Given the description of an element on the screen output the (x, y) to click on. 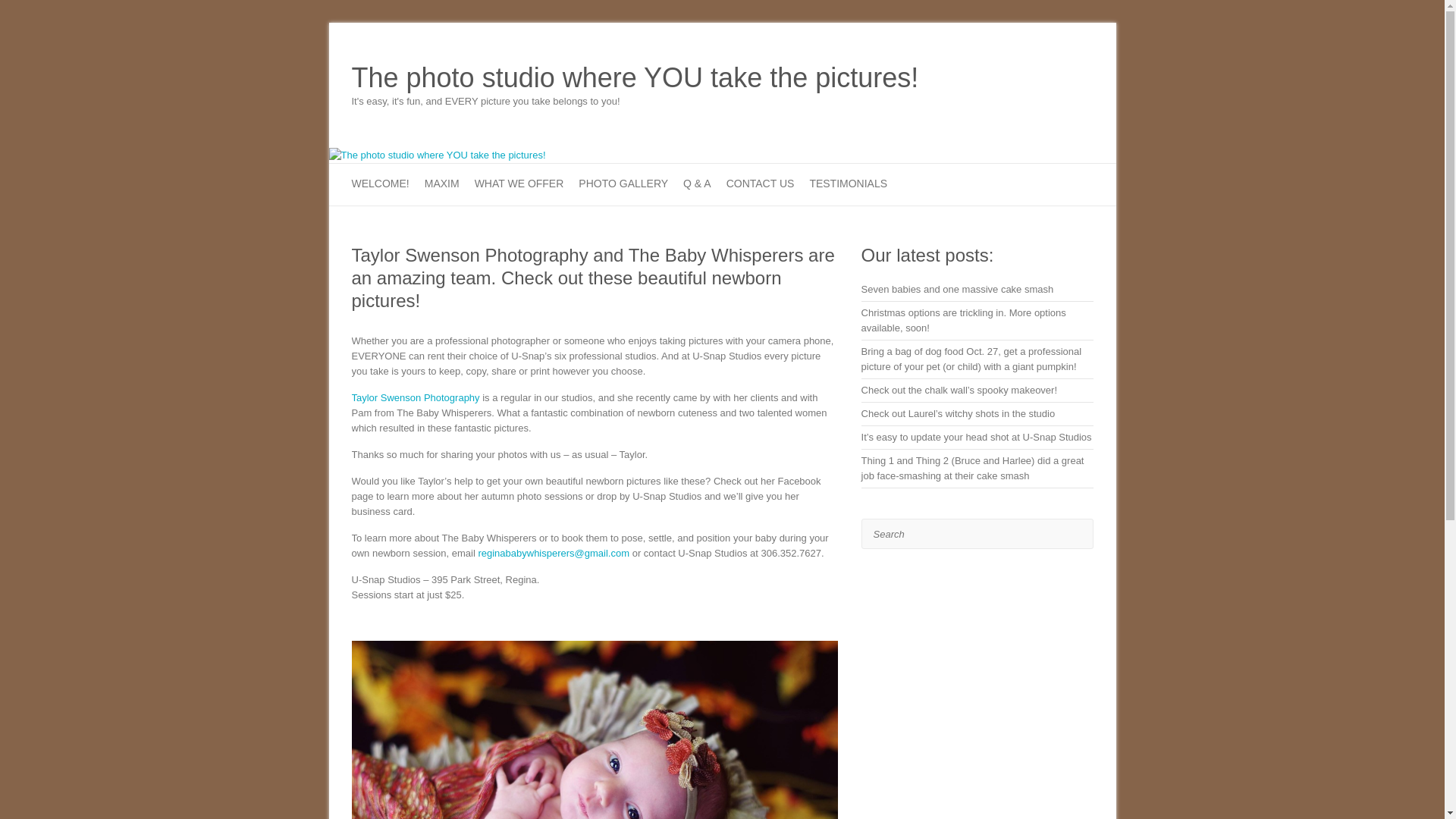
WHAT WE OFFER (519, 184)
PHOTO GALLERY (623, 184)
TESTIMONIALS (847, 184)
Taylor Swenson Photography (416, 397)
The photo studio where YOU take the pictures! (437, 154)
The photo studio where YOU take the pictures! (635, 78)
WELCOME! (380, 184)
CONTACT US (760, 184)
Seven babies and one massive cake smash (957, 288)
